Given the description of an element on the screen output the (x, y) to click on. 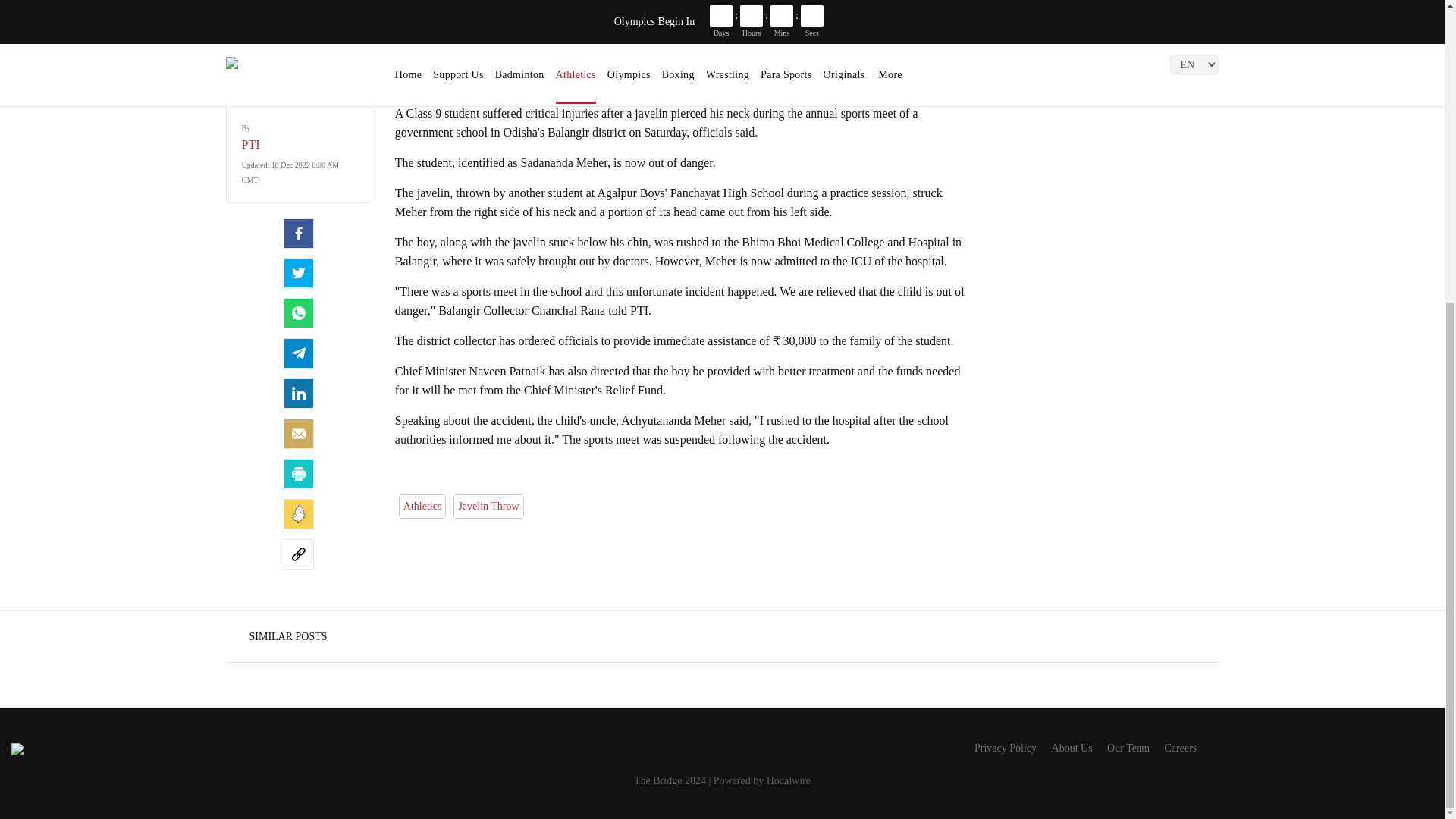
Share by Email (298, 433)
LinkedIn (298, 393)
